Given the description of an element on the screen output the (x, y) to click on. 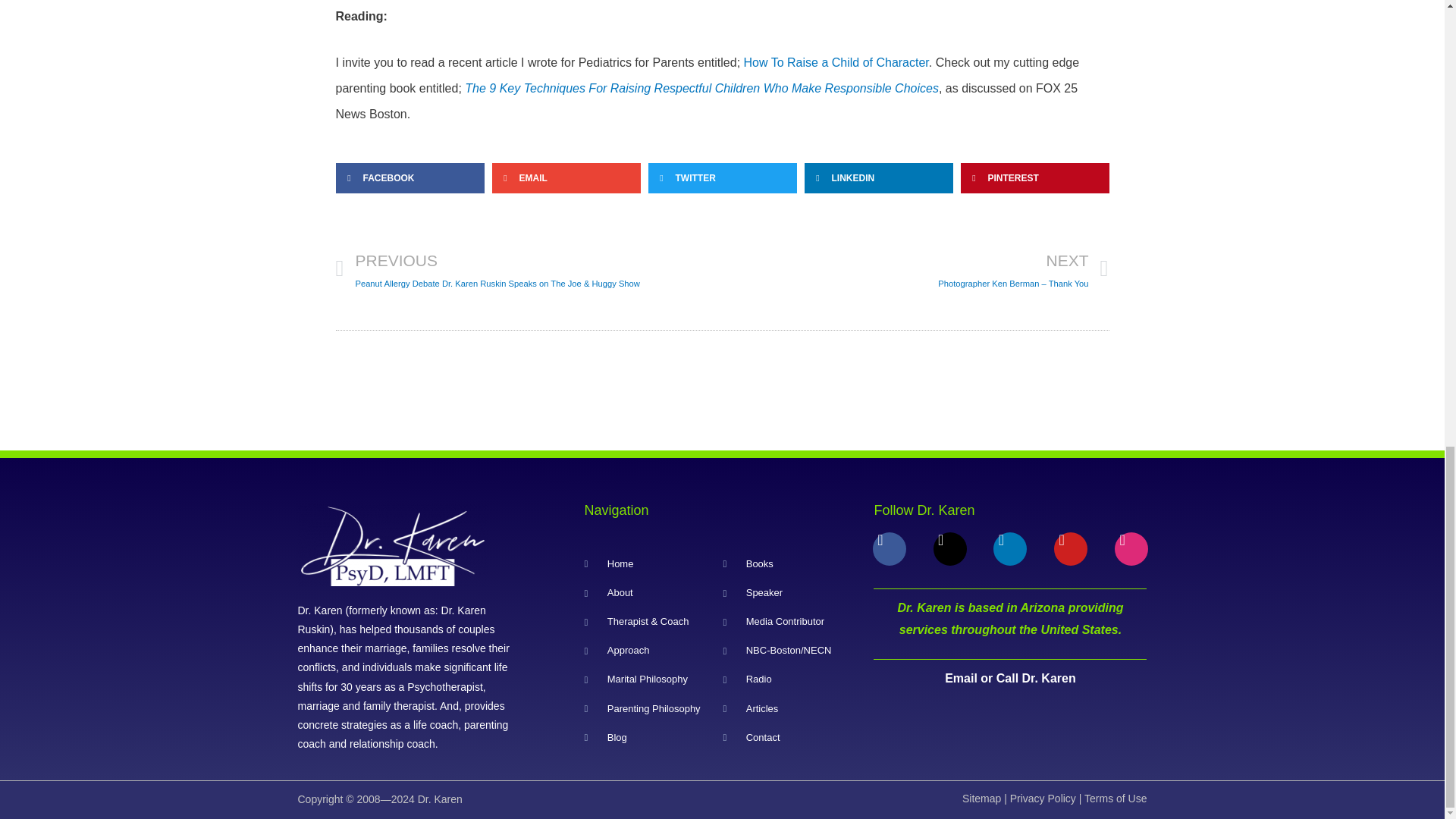
Dr. Karen Explains How To Raise a Child of Character (836, 62)
